Given the description of an element on the screen output the (x, y) to click on. 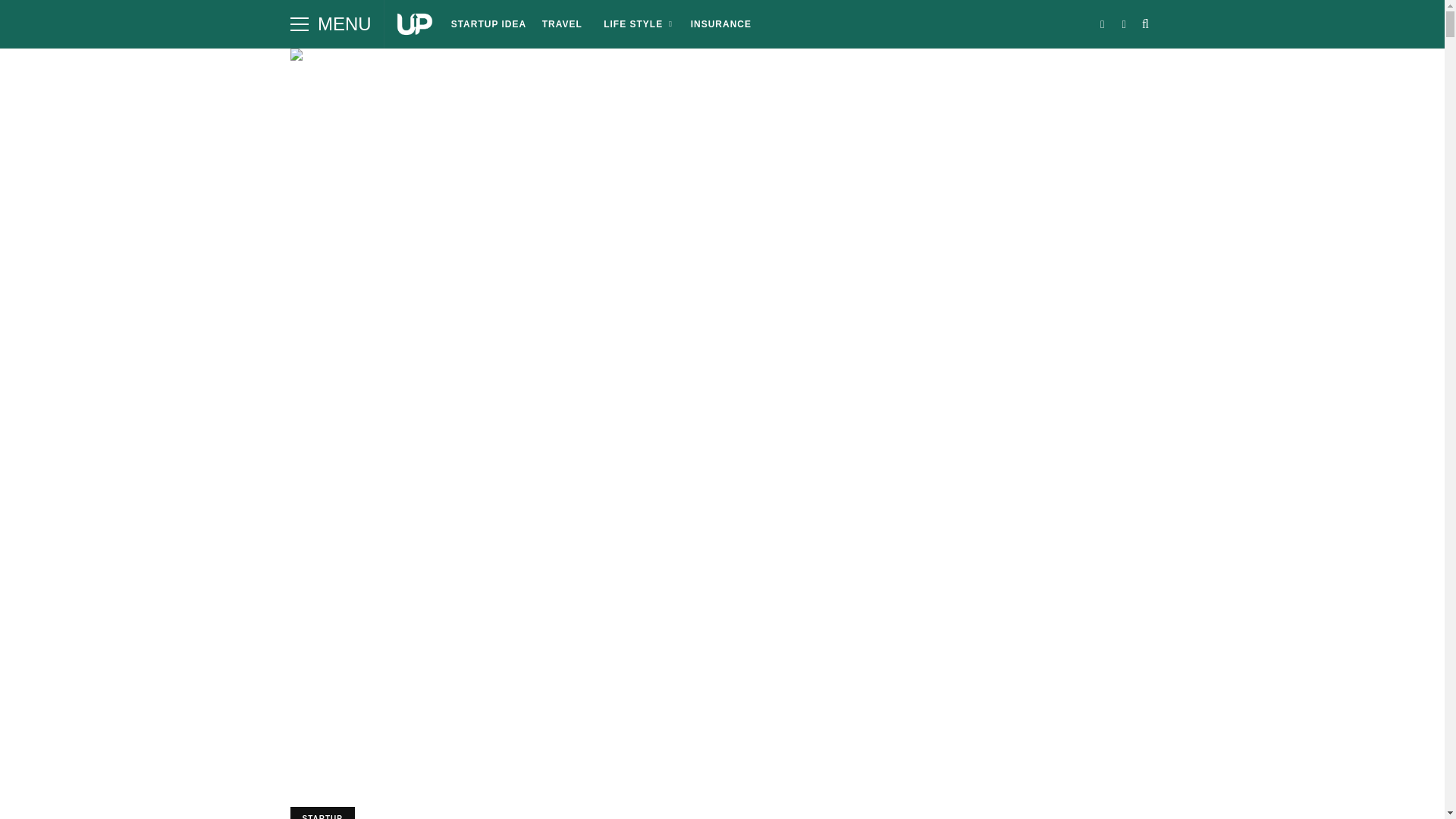
STARTUP IDEA (488, 24)
STARTUP (321, 812)
TRAVEL (561, 24)
LIFE STYLE (636, 24)
INSURANCE (720, 24)
